Given the description of an element on the screen output the (x, y) to click on. 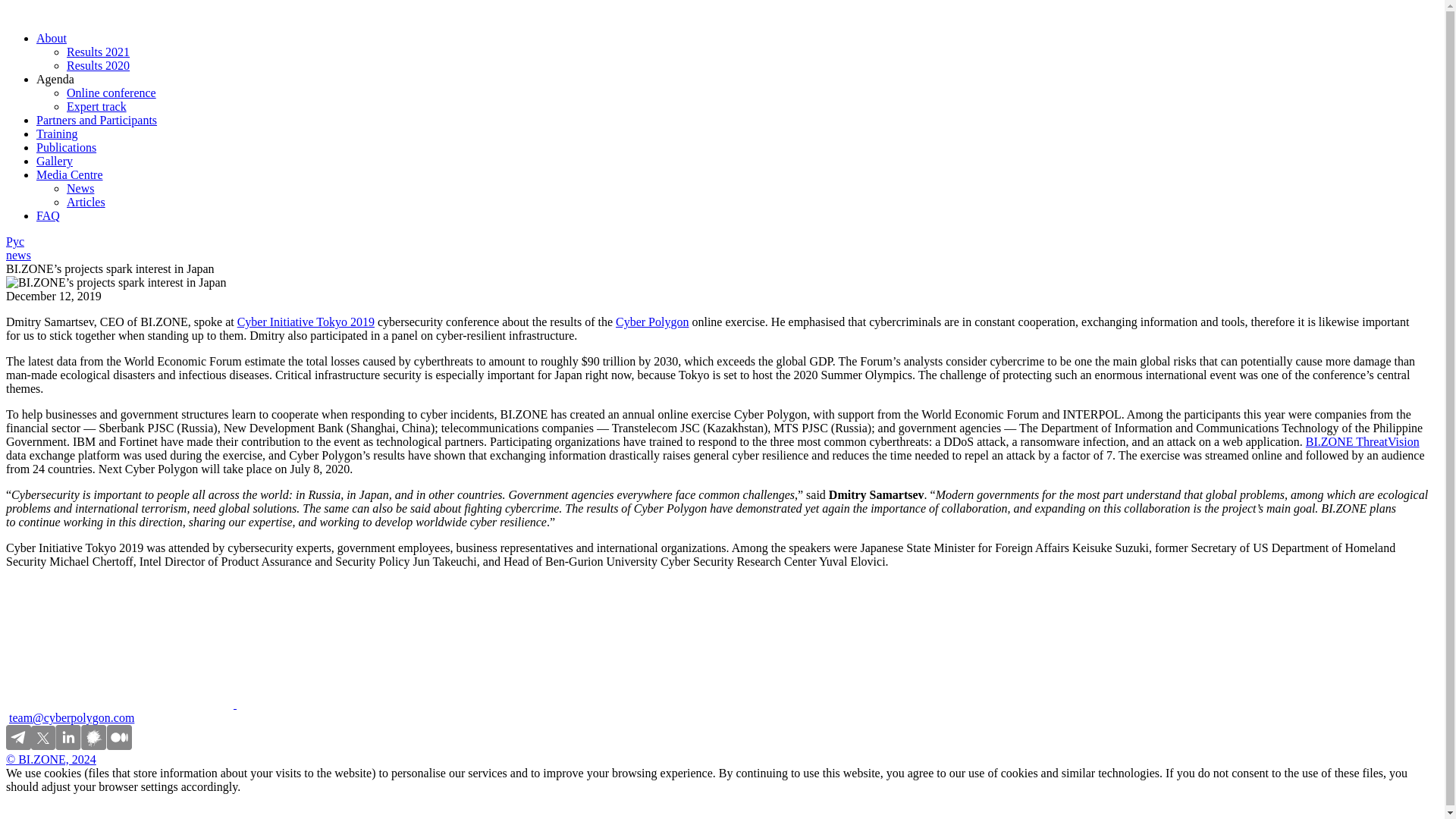
Media Centre (69, 174)
Cyber Polygon (651, 321)
News (80, 187)
Expert track (96, 106)
news (17, 254)
Publications (66, 146)
Partners and Participants (96, 119)
Online conference (110, 92)
Results 2020 (97, 65)
FAQ (47, 215)
